Given the description of an element on the screen output the (x, y) to click on. 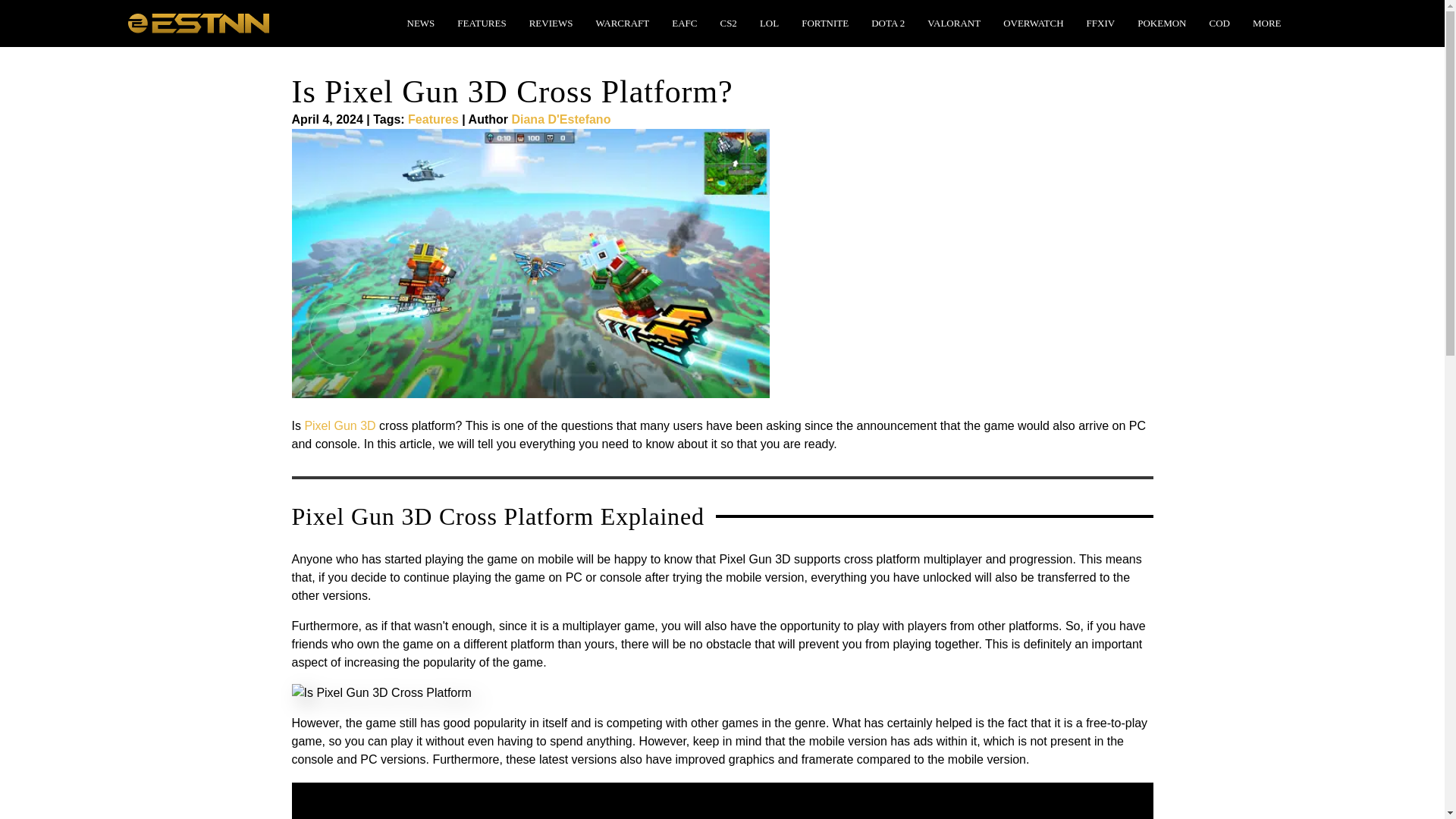
FEATURES (481, 23)
Diana D'Estefano (560, 119)
COD (1218, 23)
LOL (769, 23)
FFXIV (1100, 23)
Posts by Diana D'Estefano (560, 119)
WARCRAFT (622, 23)
MORE (1266, 23)
Pixel Gun 3D (339, 425)
REVIEWS (550, 23)
EAFC (683, 23)
NEWS (420, 23)
Home (197, 21)
OVERWATCH (1032, 23)
DOTA 2 (887, 23)
